Given the description of an element on the screen output the (x, y) to click on. 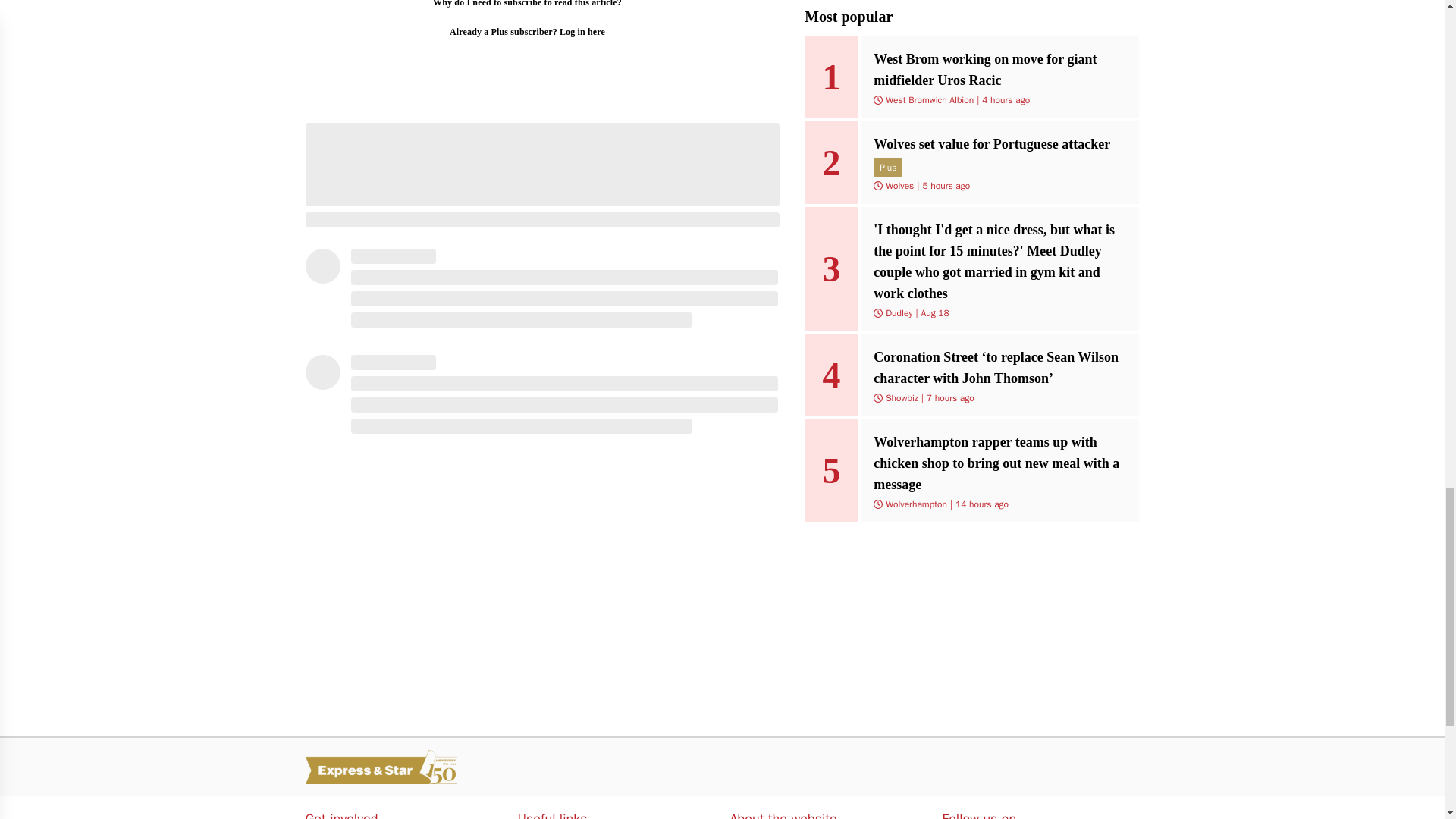
Showbiz (901, 398)
3rd party ad content (542, 628)
Wolves (899, 185)
offer-0-D6EVf (526, 41)
West Bromwich Albion (929, 100)
Wolverhampton (916, 503)
Dudley (898, 313)
